Given the description of an element on the screen output the (x, y) to click on. 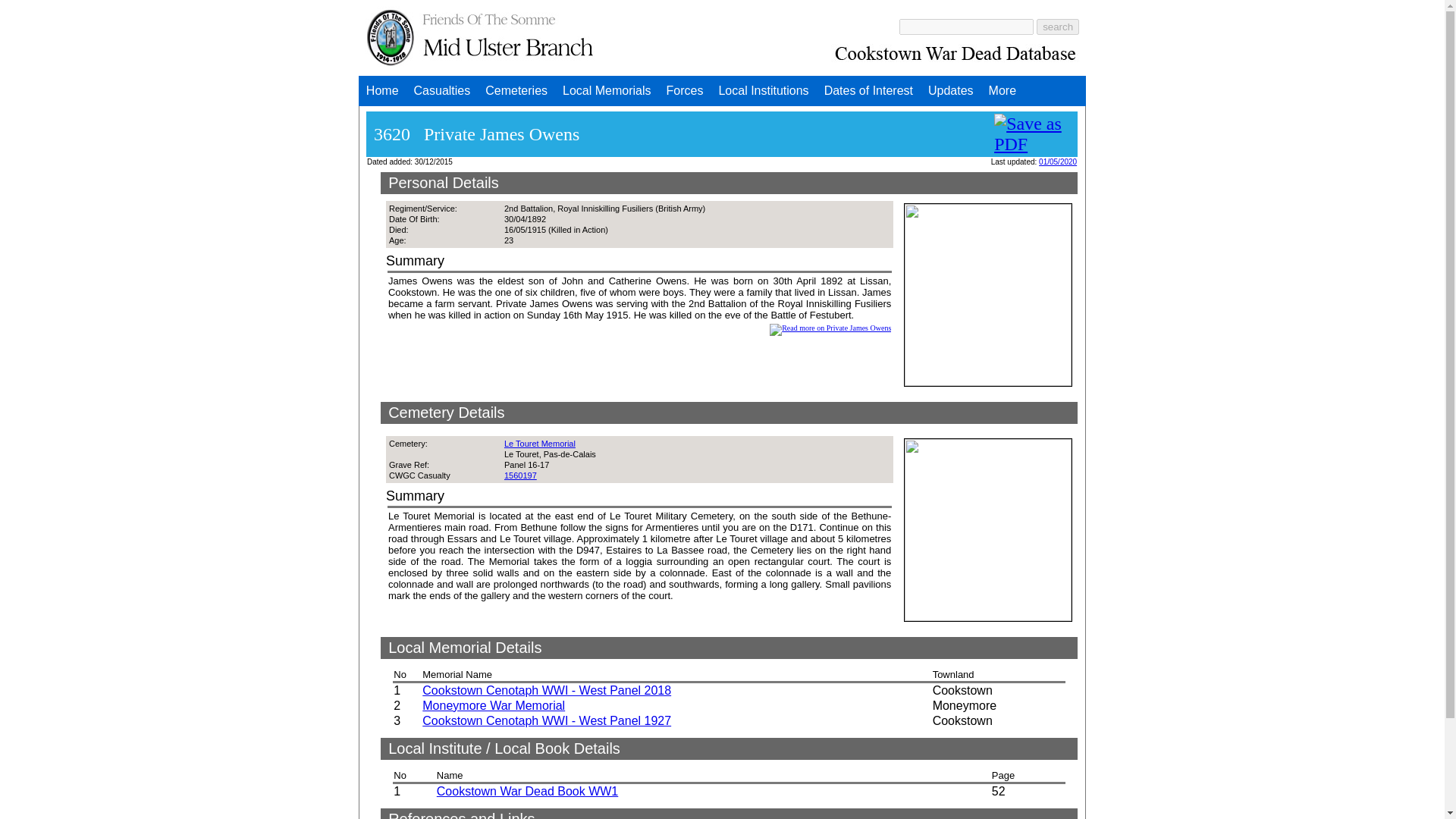
Forces (685, 91)
More (1002, 91)
Home (382, 91)
Casualties (442, 91)
Cemeteries (515, 91)
Dates of Interest (868, 91)
Local Institutions (762, 91)
Friends of the Somme - Mid Ulster Branch (480, 36)
Local Memorials (606, 91)
